Given the description of an element on the screen output the (x, y) to click on. 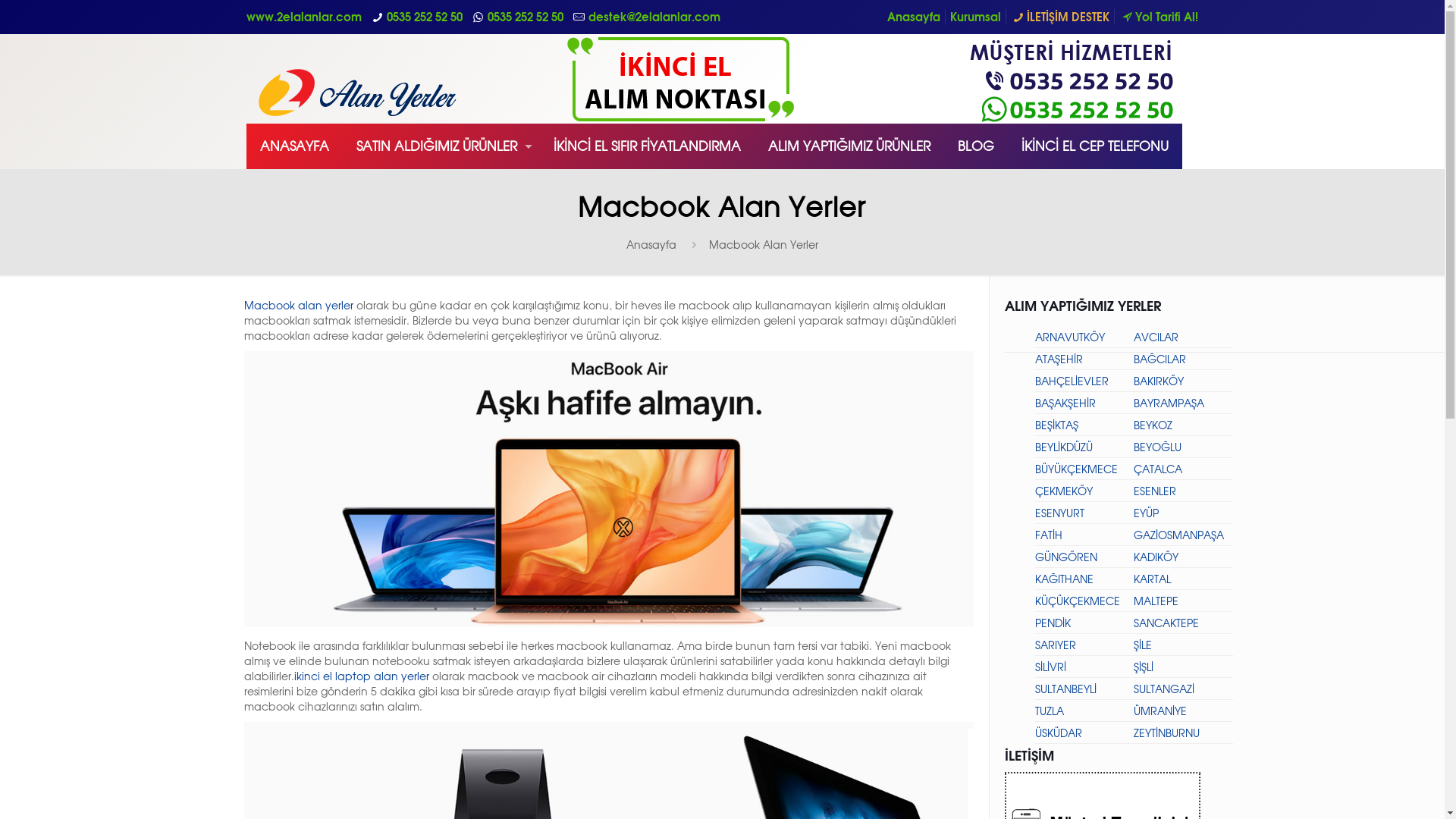
TUZLA Element type: text (1048, 710)
BEYKOZ Element type: text (1152, 424)
SARIYER Element type: text (1054, 644)
ANASAYFA Element type: text (294, 146)
destek@2elalanlar.com Element type: text (654, 16)
BLOG Element type: text (975, 146)
SANCAKTEPE Element type: text (1165, 622)
KARTAL Element type: text (1151, 578)
ESENLER Element type: text (1154, 490)
MALTEPE Element type: text (1155, 600)
Kurumsal Element type: text (975, 16)
0535 252 52 50 Element type: text (424, 16)
ESENYURT Element type: text (1058, 512)
Yol Tarifi Al! Element type: text (1158, 17)
Macbook alan yerler Element type: text (298, 304)
Anasayfa Element type: text (651, 244)
Anasayfa Element type: text (913, 16)
AVCILAR Element type: text (1155, 336)
ikinci el laptop alan yerler Element type: text (361, 675)
0535 252 52 50 Element type: text (525, 16)
